Given the description of an element on the screen output the (x, y) to click on. 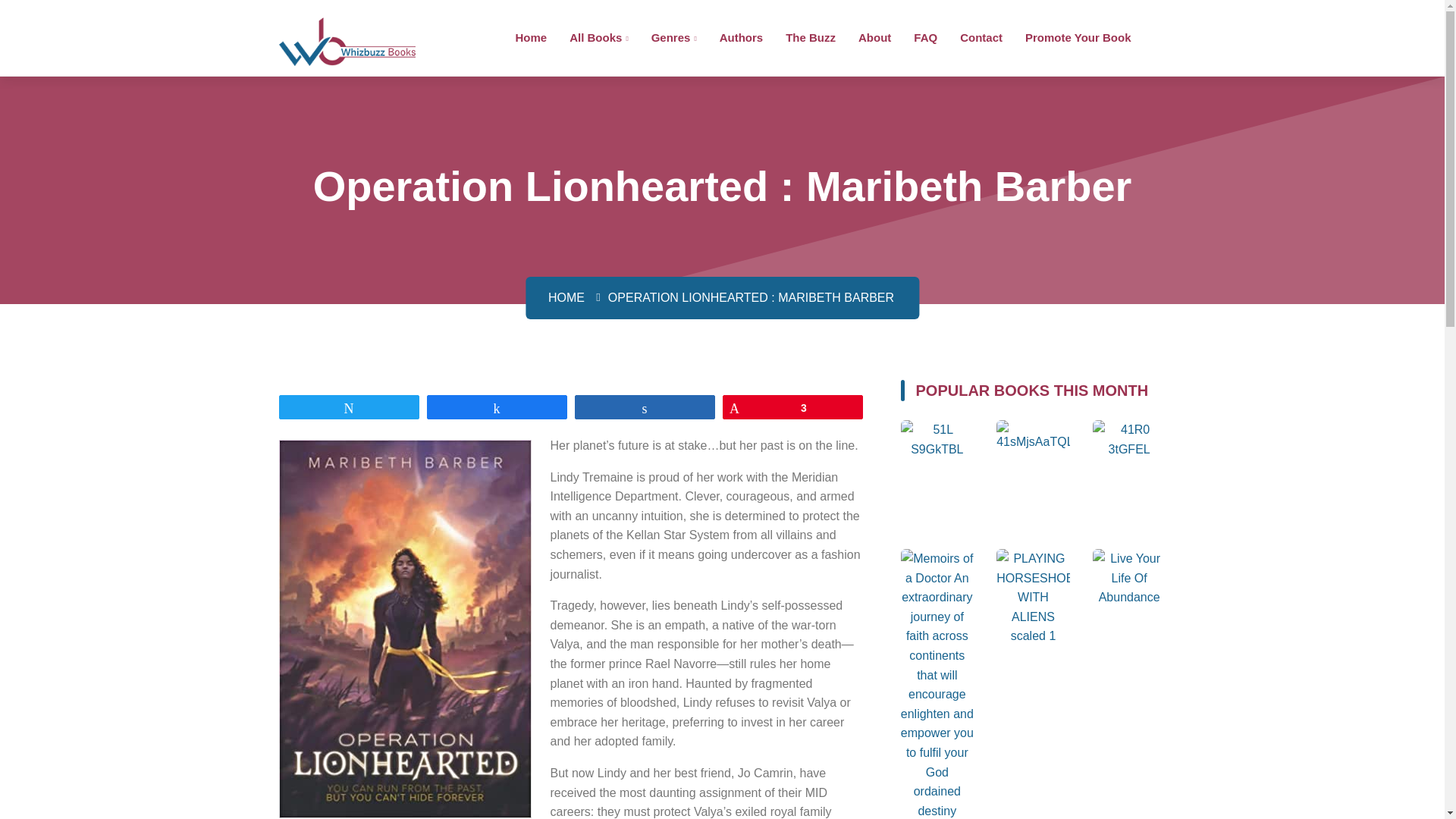
Home (530, 37)
Genres (673, 37)
All Books (598, 37)
Authors (740, 37)
